Given the description of an element on the screen output the (x, y) to click on. 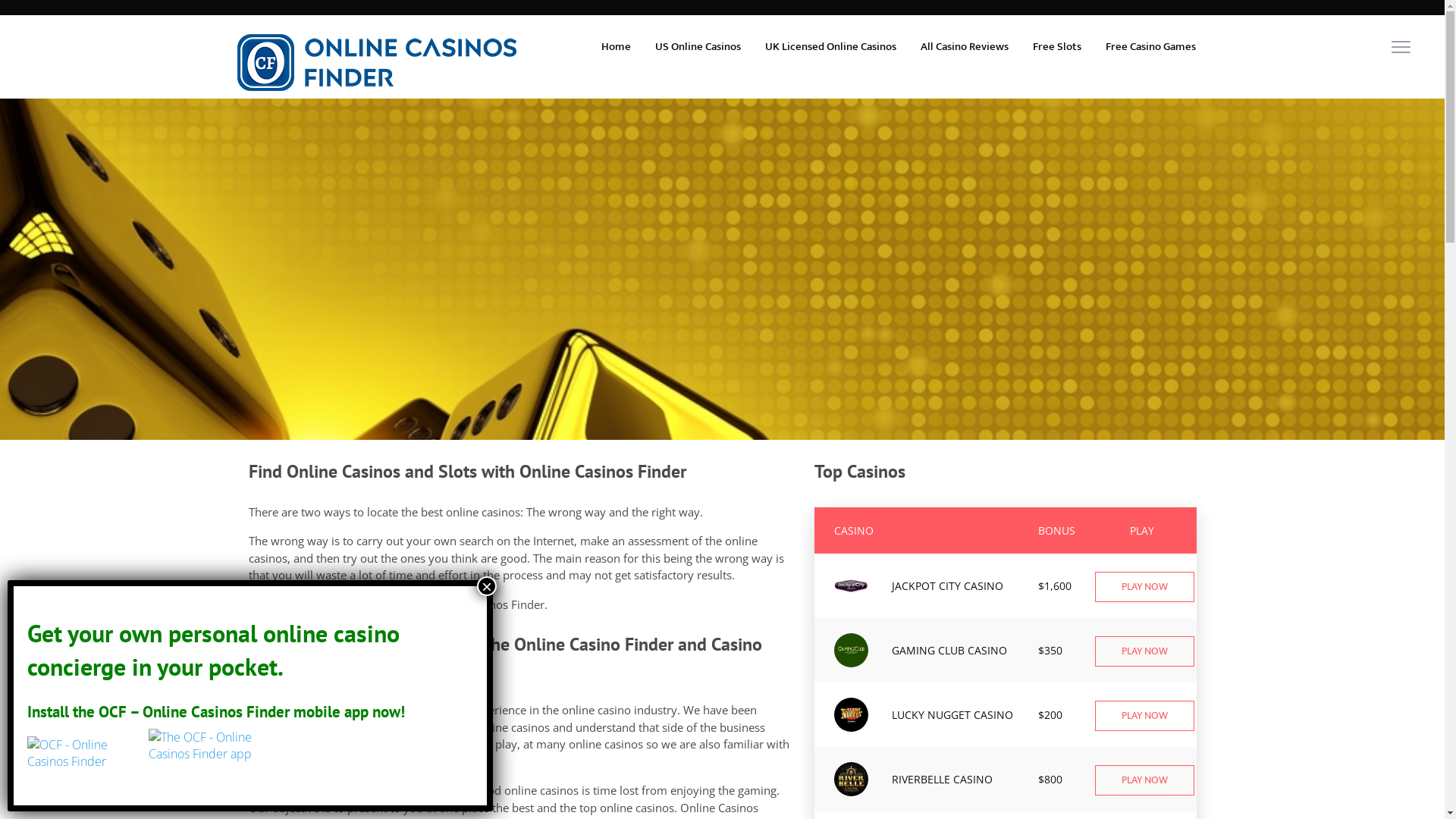
All Casino Reviews Element type: text (964, 46)
US Online Casinos Element type: text (698, 46)
PLAY NOW Element type: text (1145, 651)
UK Licensed Online Casinos Element type: text (829, 46)
PLAY NOW Element type: text (1145, 715)
Free Slots Element type: text (1056, 46)
Free Casino Games Element type: text (1150, 46)
Home Element type: text (615, 46)
PLAY NOW Element type: text (1145, 586)
PLAY NOW Element type: text (1145, 780)
